Given the description of an element on the screen output the (x, y) to click on. 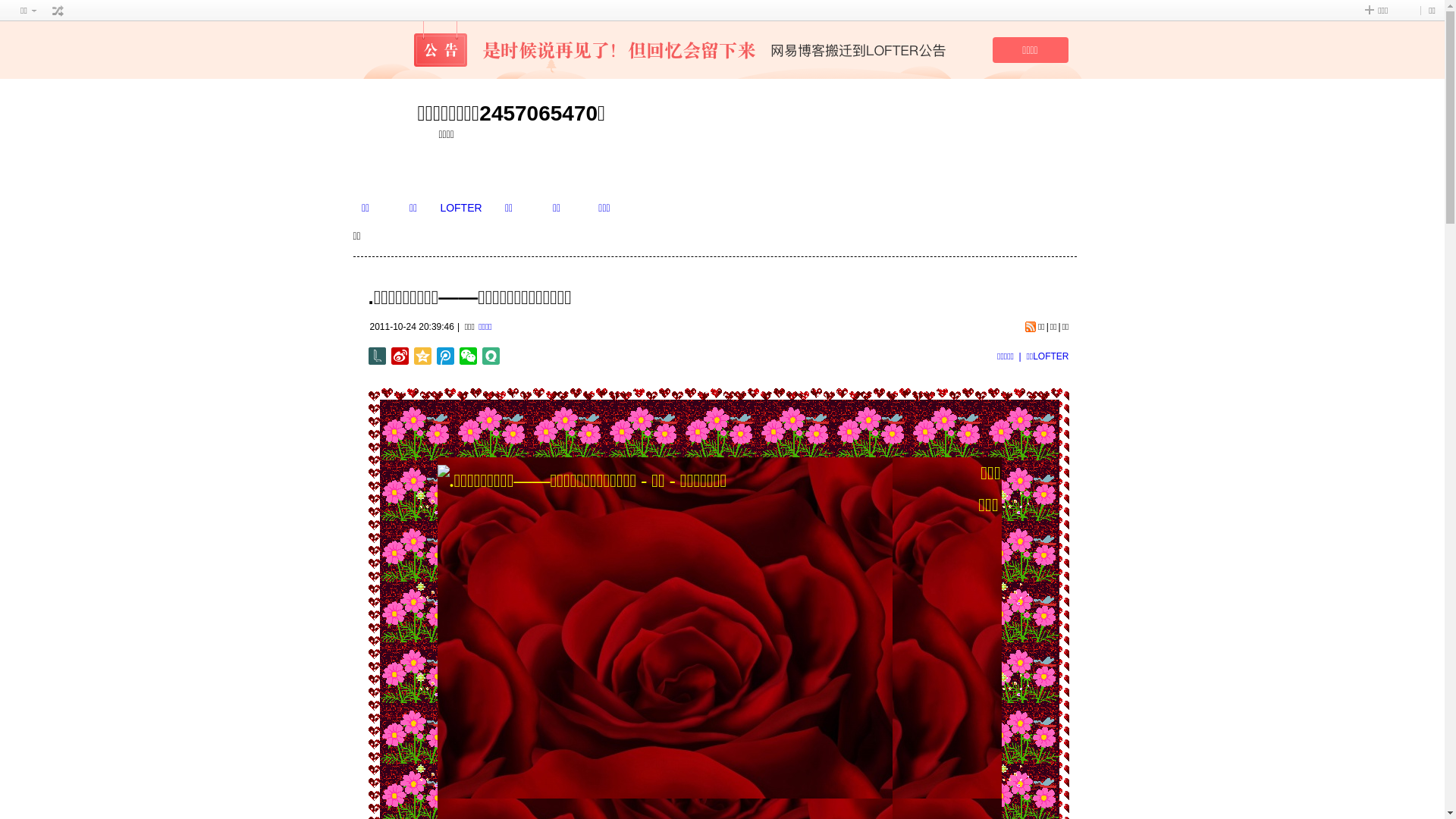
  Element type: text (58, 10)
LOFTER Element type: text (460, 207)
